Given the description of an element on the screen output the (x, y) to click on. 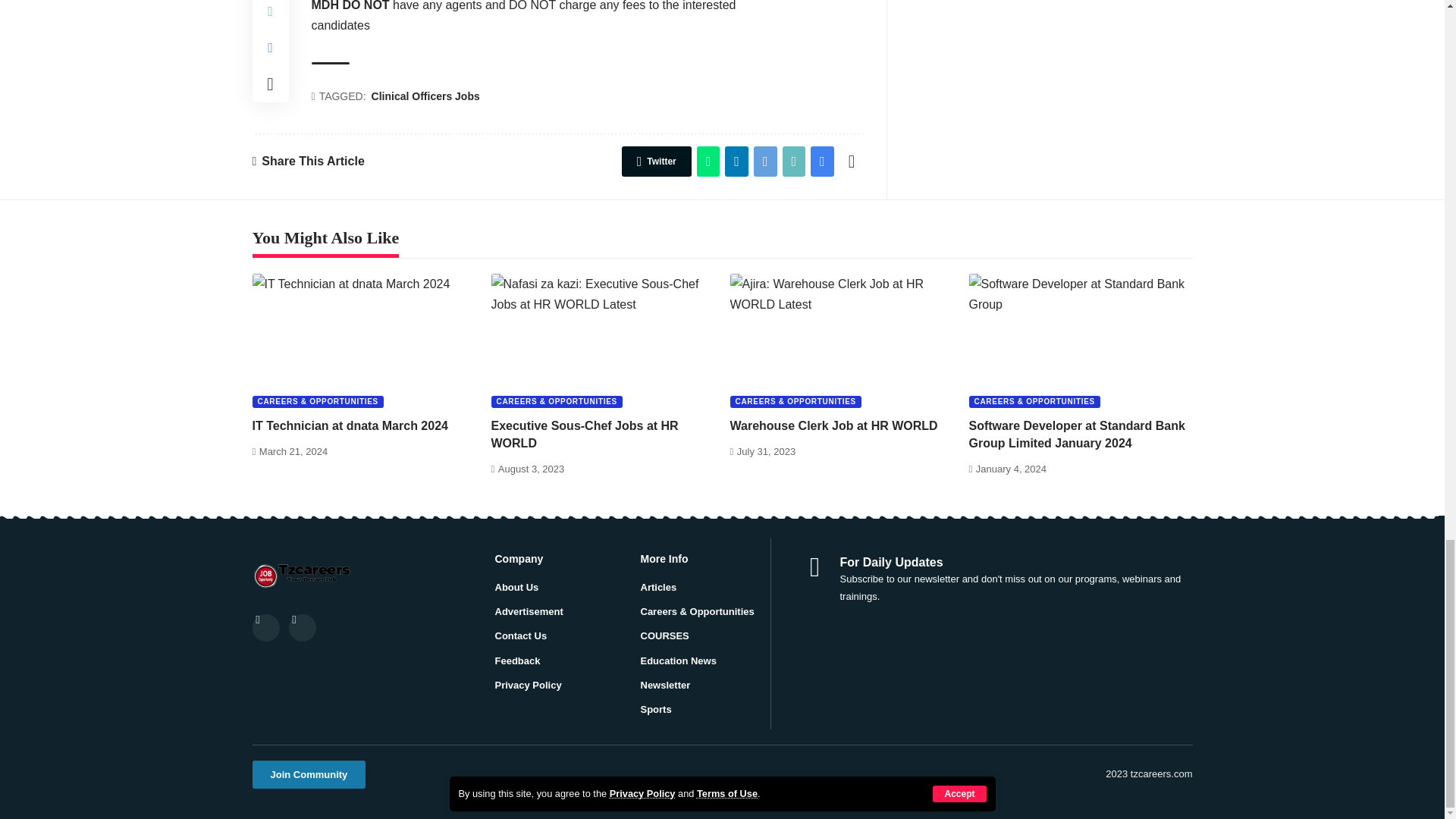
IT Technician at dnata March 2024 (363, 340)
Warehouse Clerk Job at HR WORLD (841, 340)
Executive Sous-Chef Jobs at HR WORLD (603, 340)
